Given the description of an element on the screen output the (x, y) to click on. 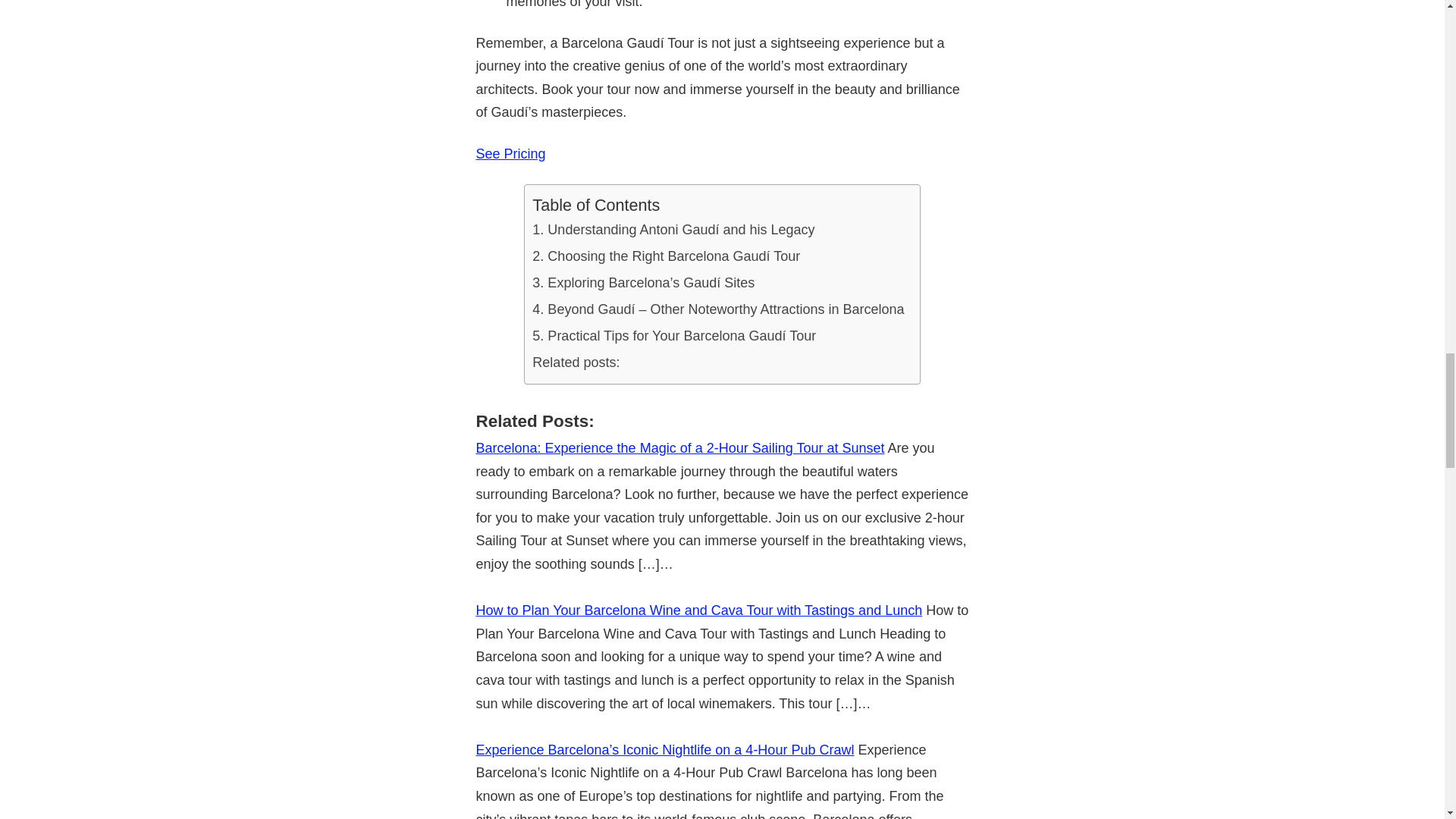
See Pricing (511, 153)
Related posts: (576, 361)
Related posts: (576, 361)
